Given the description of an element on the screen output the (x, y) to click on. 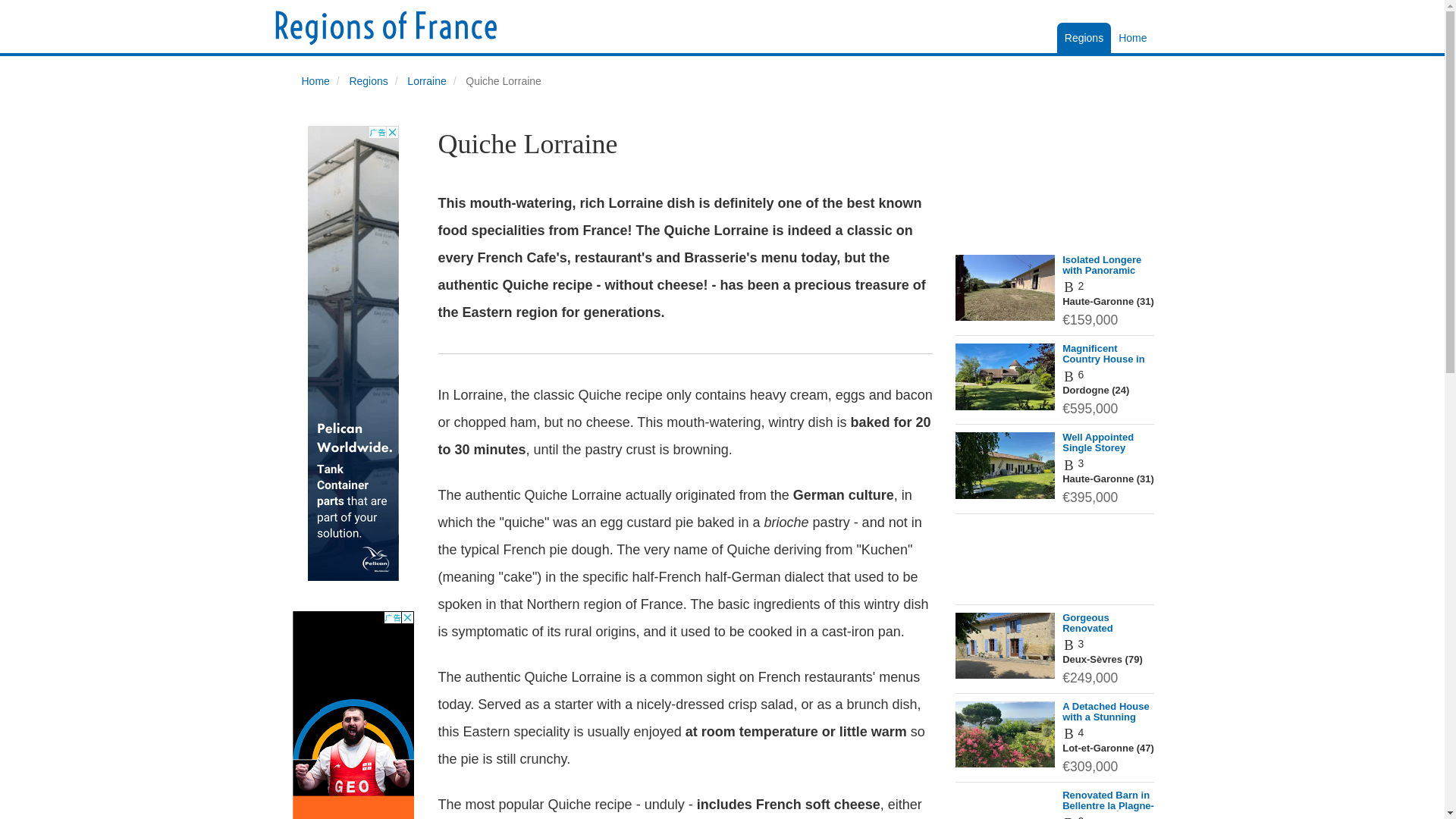
Home (1132, 37)
Regions of France (384, 27)
Regions of France (384, 29)
Lorraine (426, 80)
Isolated Longere with Panoramic Pyrenean Views to Modernise (1106, 275)
Home (315, 80)
Regions (1083, 37)
Regions (368, 80)
French Regional Information (1083, 37)
Discover the 22 administrative French regions (1132, 37)
Regions of France (384, 29)
